Given the description of an element on the screen output the (x, y) to click on. 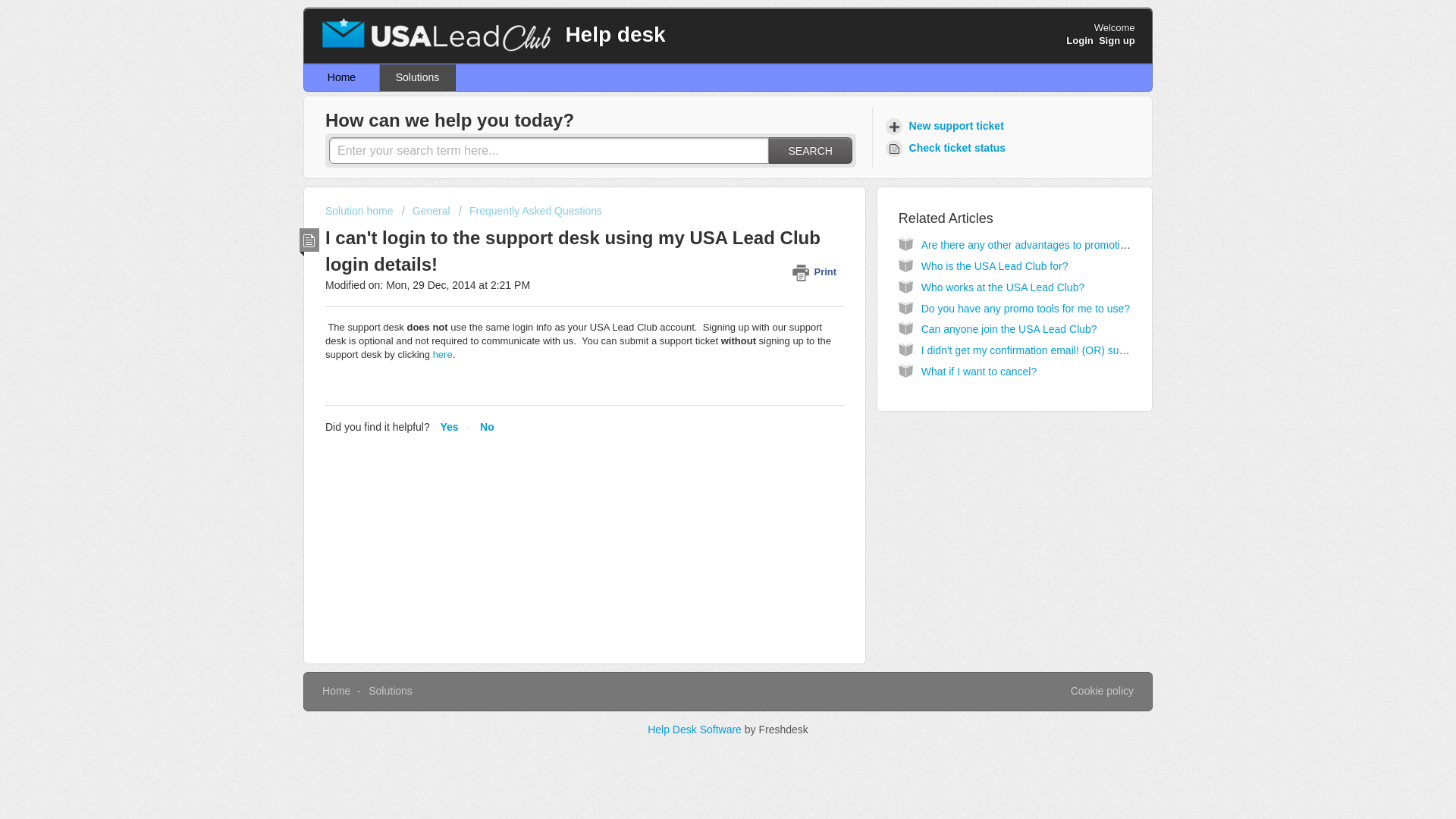
Check ticket status (947, 147)
Check ticket status (947, 147)
Cookie policy (1102, 691)
Do you have any promo tools for me to use? (1025, 308)
General (425, 210)
Solutions (417, 77)
Help Desk Software (695, 729)
Why we love Cookies (1102, 691)
Sign up (1117, 40)
